Given the description of an element on the screen output the (x, y) to click on. 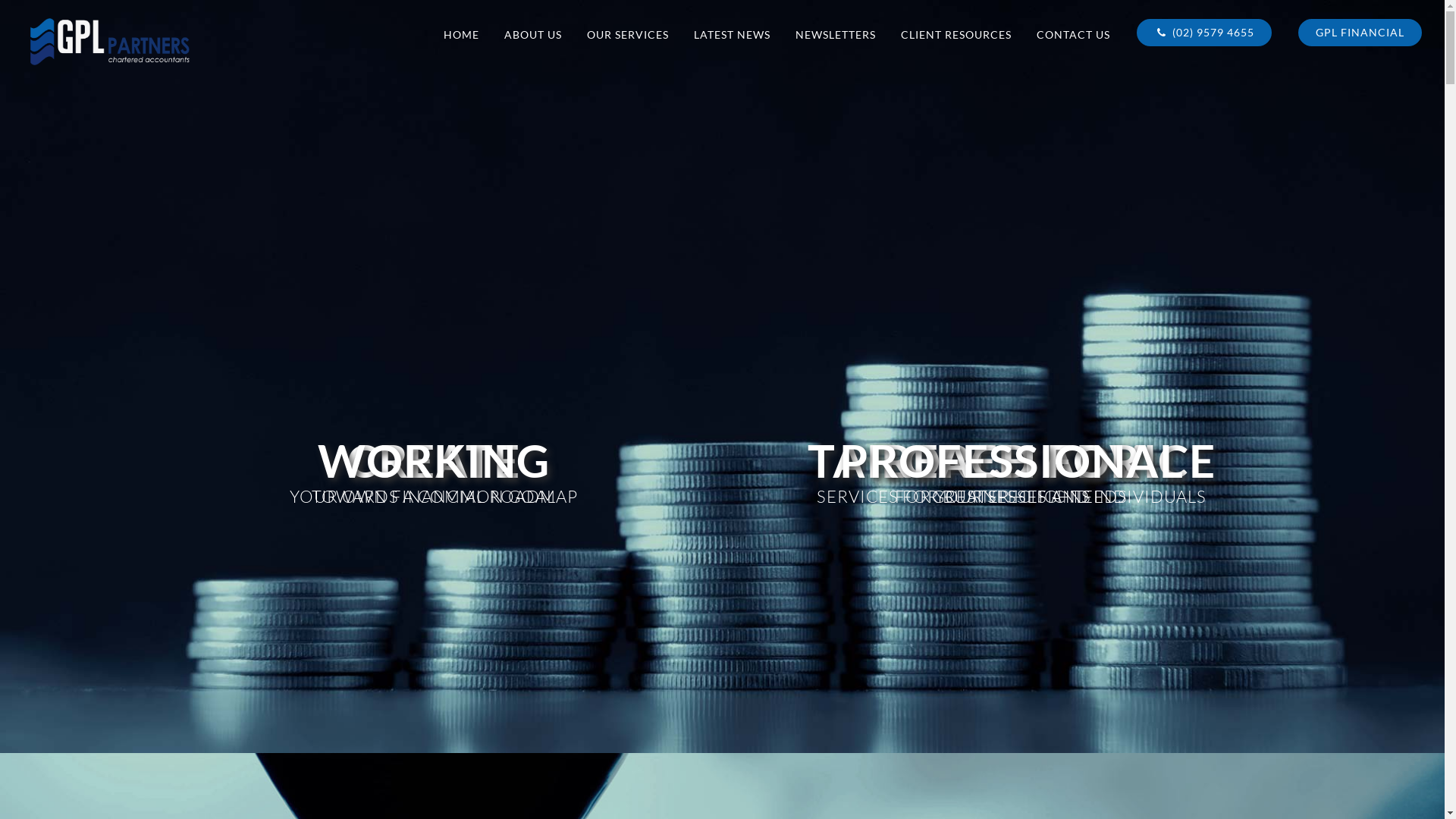
LATEST NEWS Element type: text (731, 34)
(02) 9579 4655 Element type: text (1203, 32)
CLIENT RESOURCES Element type: text (955, 34)
NEWSLETTERS Element type: text (835, 34)
CONTACT US Element type: text (1073, 34)
OUR SERVICES Element type: text (627, 34)
HOME Element type: text (461, 34)
GPL FINANCIAL Element type: text (1359, 32)
ABOUT US Element type: text (532, 34)
